Given the description of an element on the screen output the (x, y) to click on. 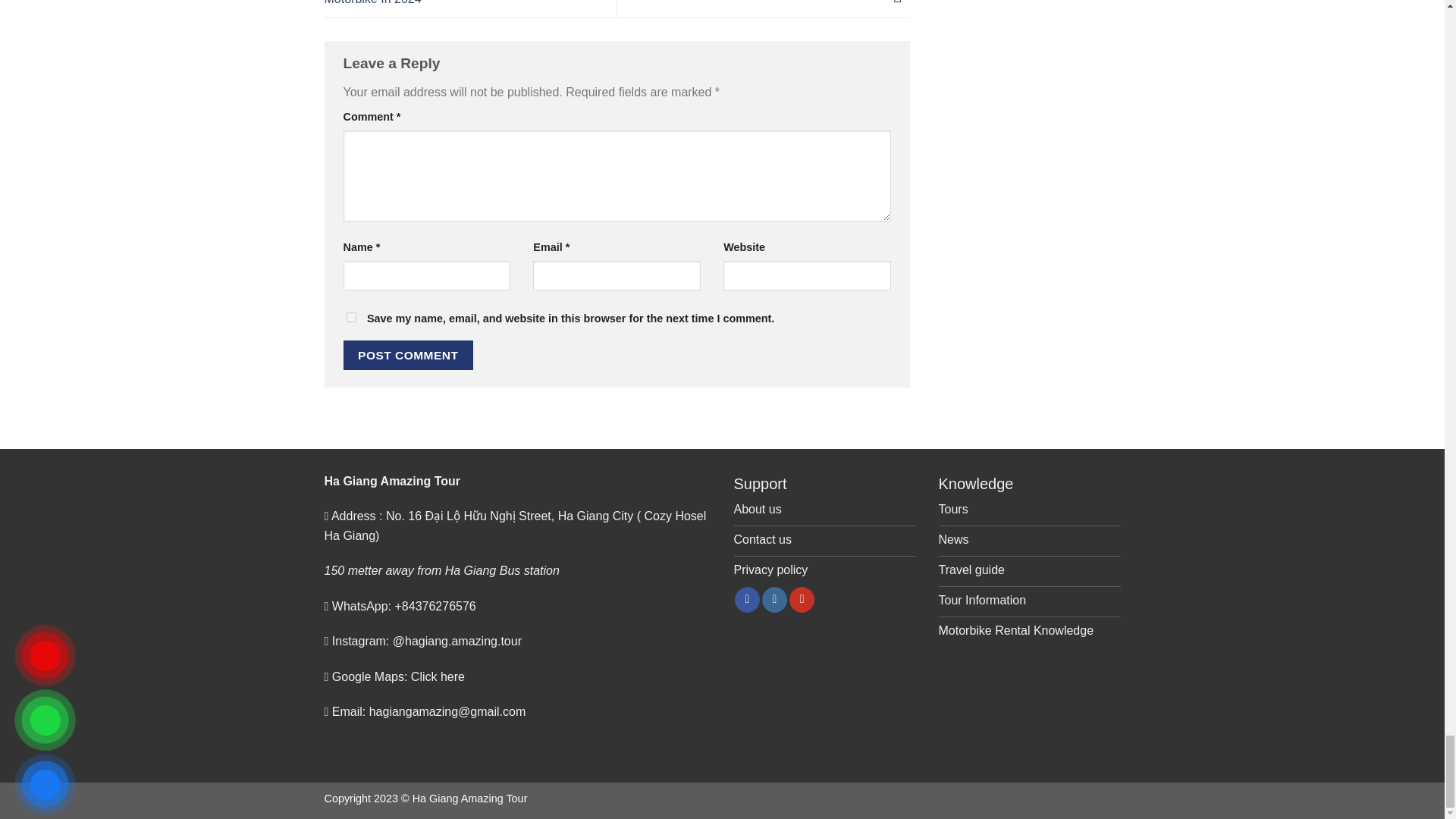
yes (350, 317)
Post Comment (407, 355)
Follow on YouTube (801, 599)
Follow on Instagram (774, 599)
Follow on Facebook (747, 599)
